Given the description of an element on the screen output the (x, y) to click on. 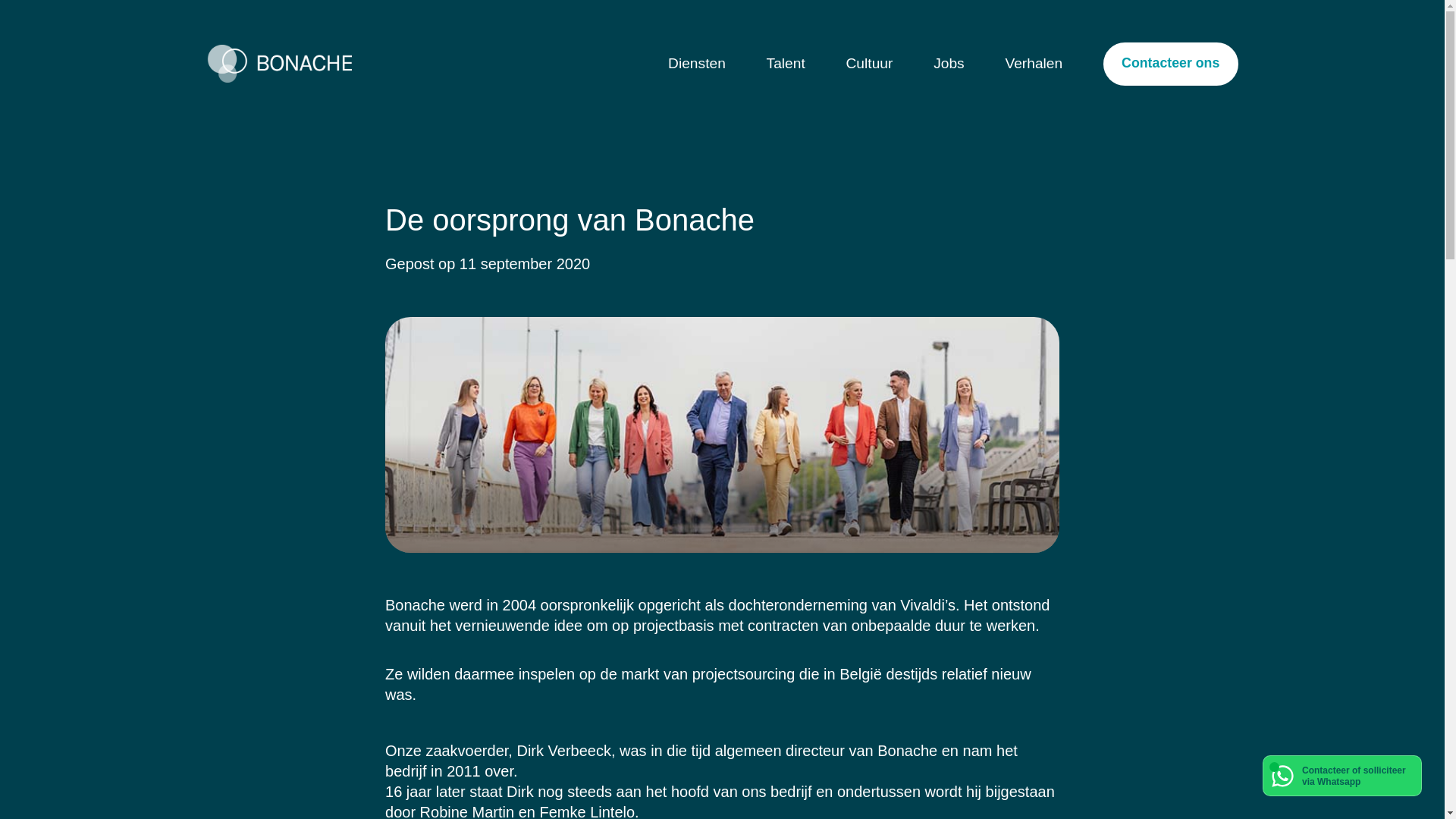
Contacteer ons Element type: text (1170, 63)
Cultuur Element type: text (869, 63)
Talent Element type: text (785, 63)
Diensten Element type: text (696, 63)
Verhalen Element type: text (1033, 63)
Jobs Element type: text (948, 63)
